Given the description of an element on the screen output the (x, y) to click on. 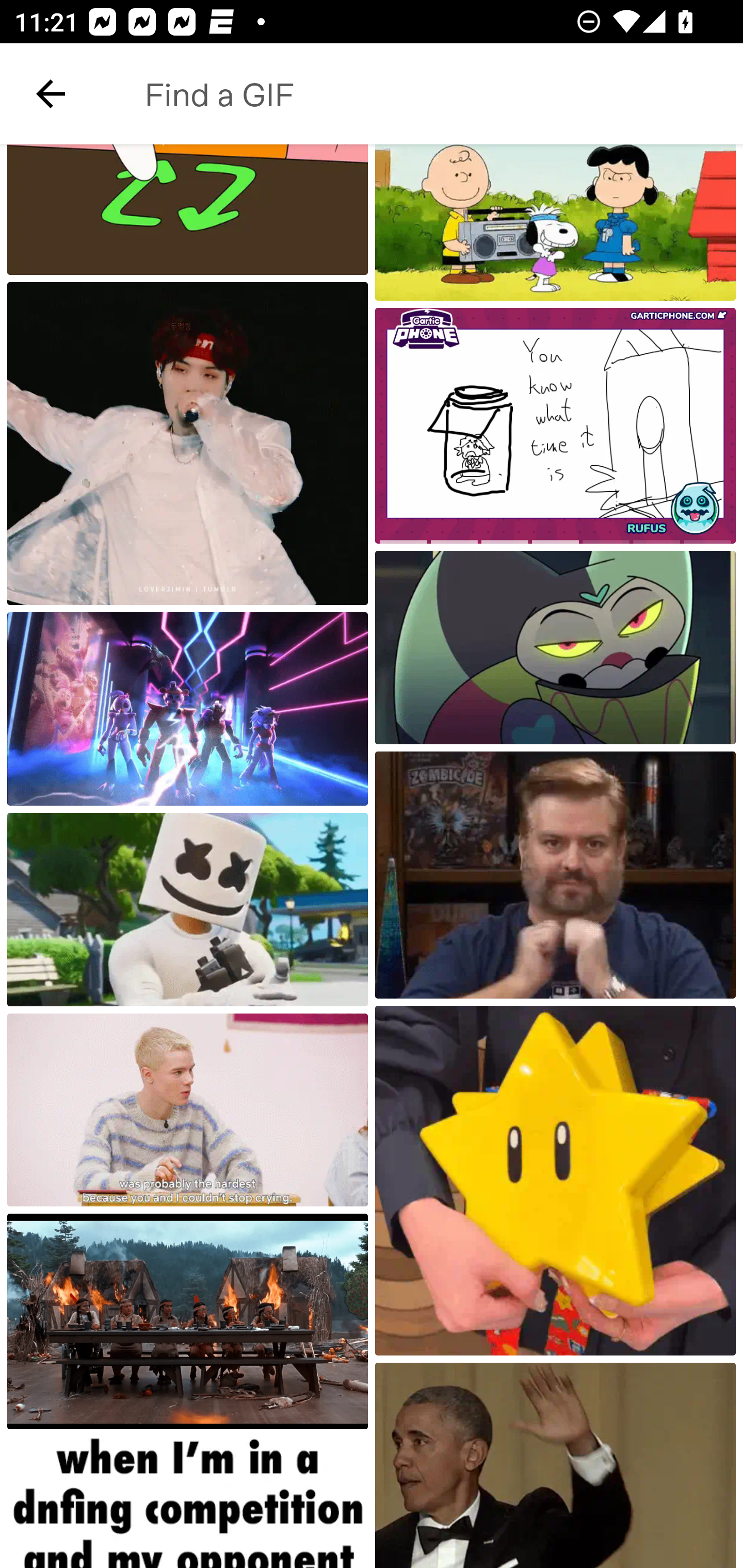
Navigate up (50, 93)
Find a GIF (422, 93)
